Given the description of an element on the screen output the (x, y) to click on. 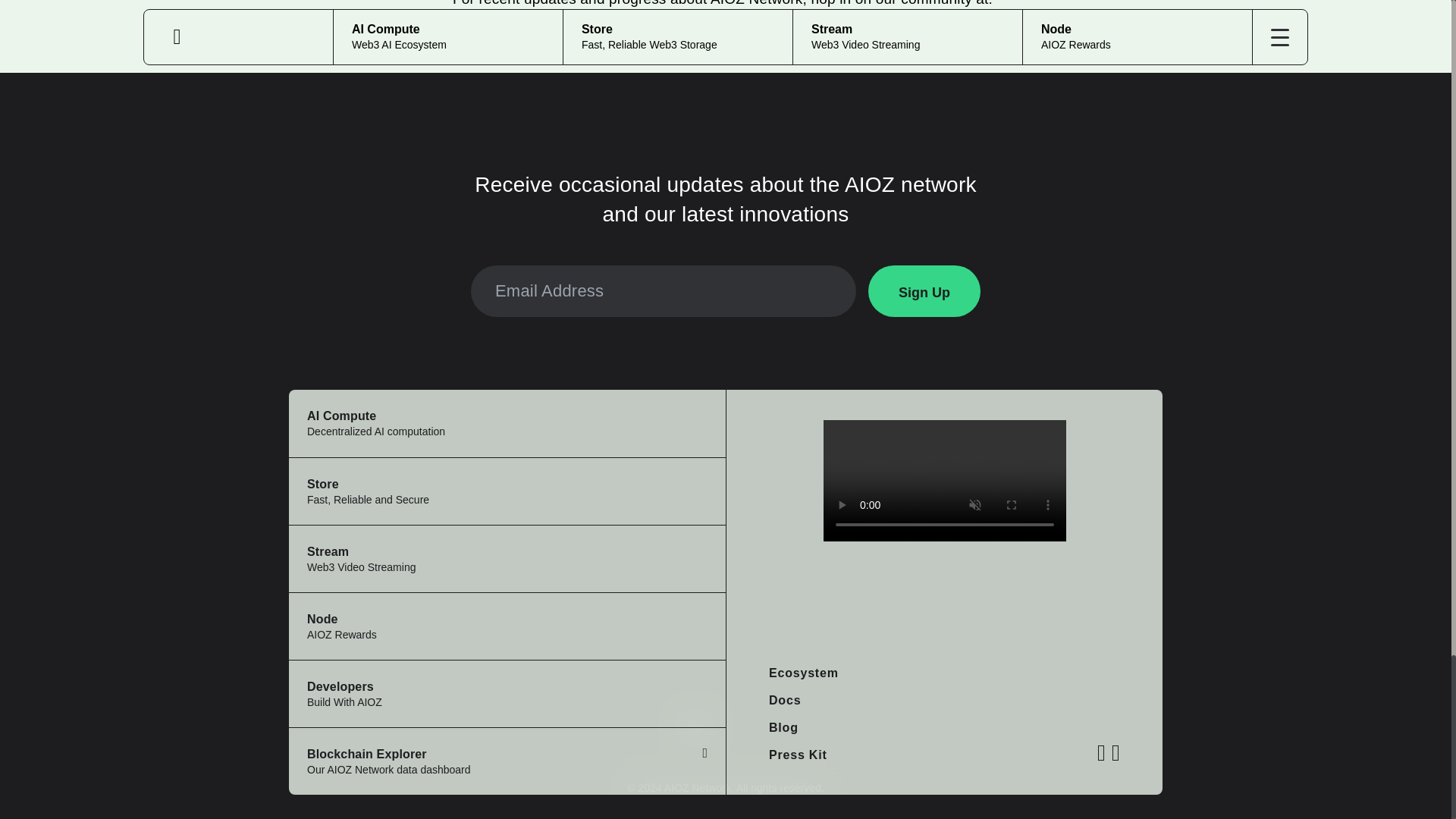
Press Kit (797, 754)
E-mail (749, 43)
Telegram (686, 43)
Medium (563, 43)
Sign Up (506, 422)
Blog (923, 290)
Twitter (782, 727)
Ecosystem (506, 490)
Docs (506, 693)
Homepage (621, 43)
